Given the description of an element on the screen output the (x, y) to click on. 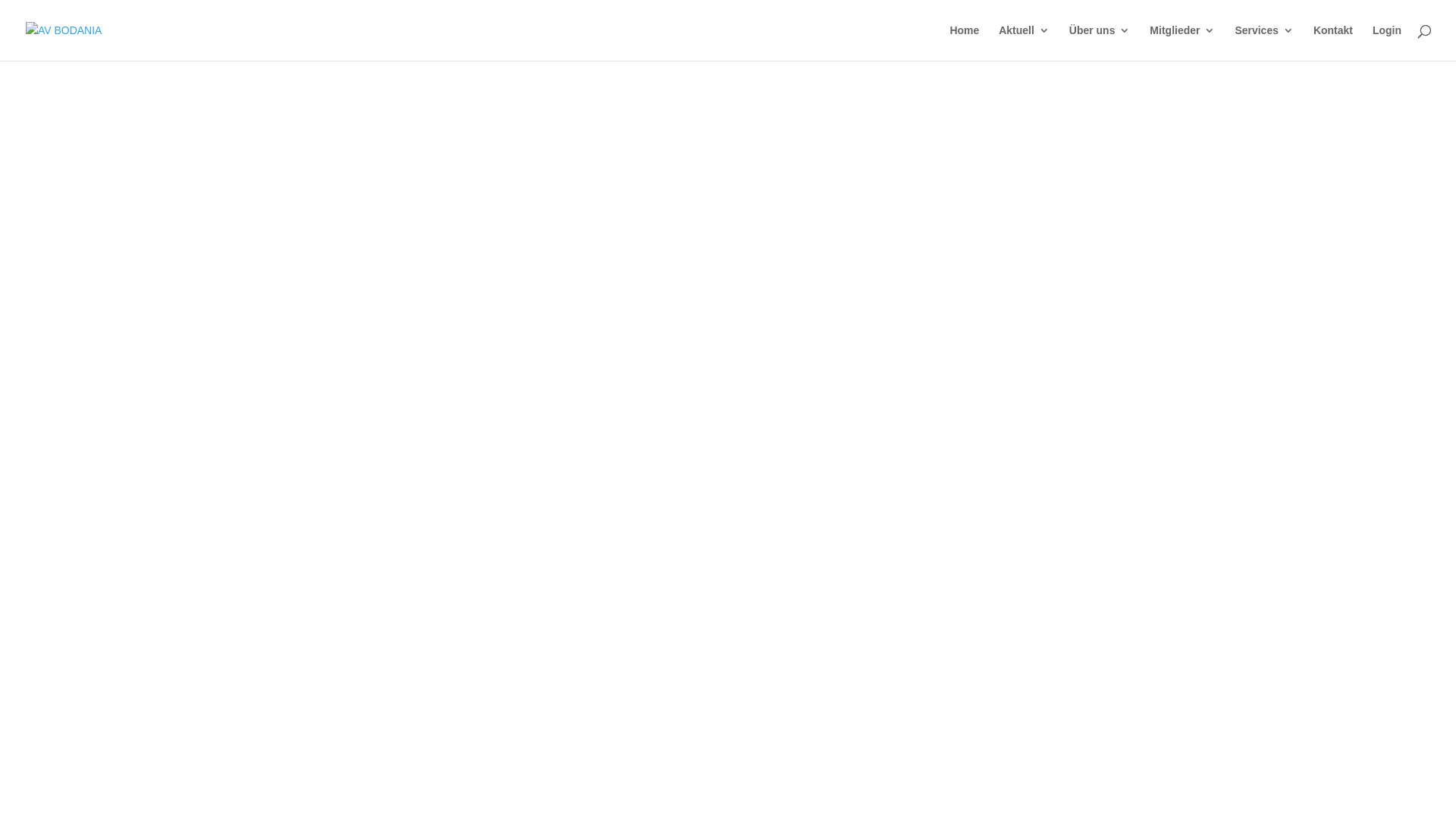
Home Element type: text (964, 42)
Kontakt Element type: text (1332, 42)
Mitglieder Element type: text (1181, 42)
20220818_OM_Wonnenstein Element type: text (493, 332)
Aktuell Element type: text (1023, 42)
Login Element type: text (1386, 42)
Services Element type: text (1263, 42)
Instagram Element type: text (525, 449)
Offizielle Mitteilung Element type: text (658, 239)
Facebook Element type: text (461, 449)
Impressum Element type: text (593, 449)
